Given the description of an element on the screen output the (x, y) to click on. 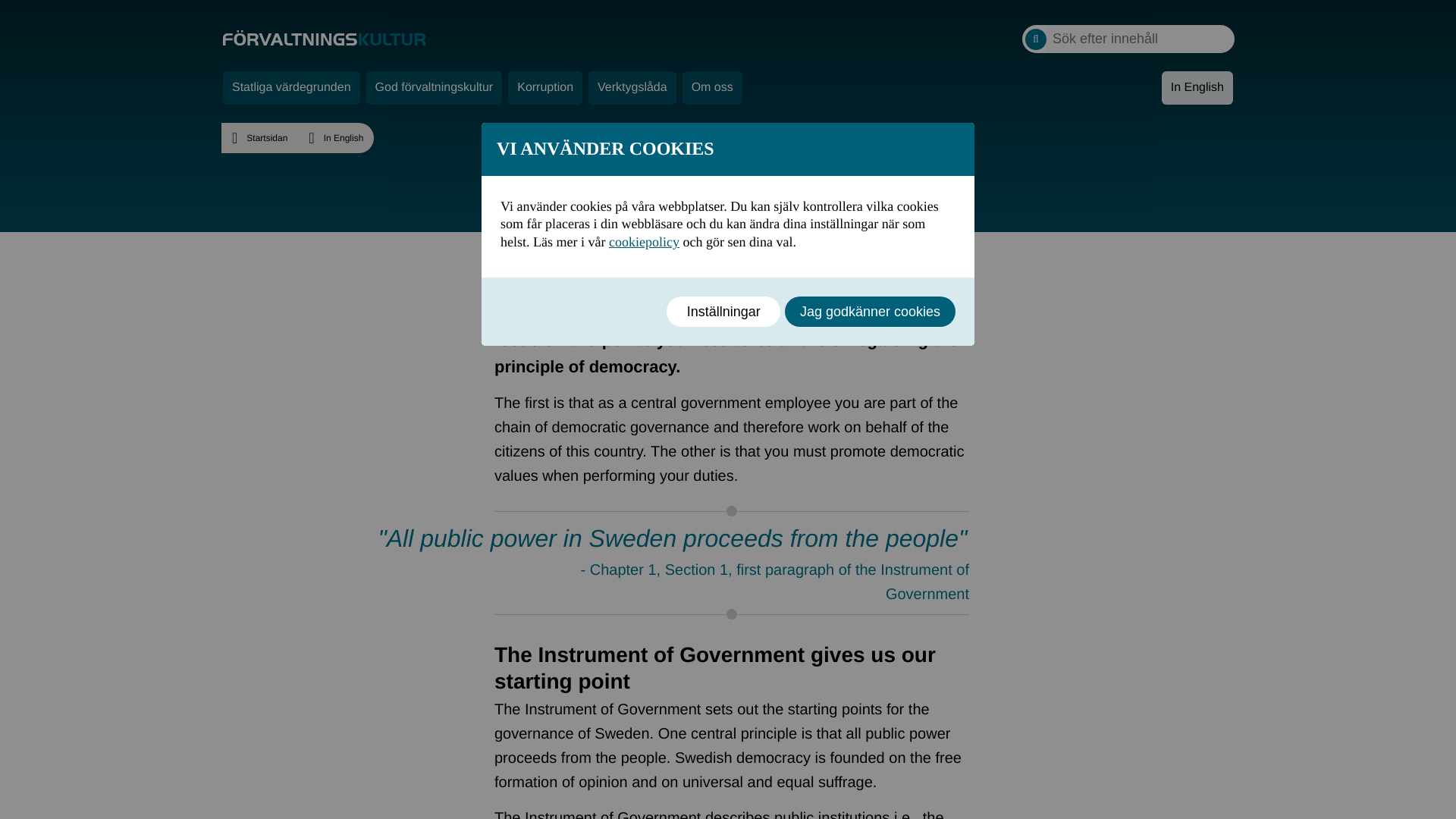
Om oss (712, 87)
In English (1197, 87)
Korruption (545, 87)
